Given the description of an element on the screen output the (x, y) to click on. 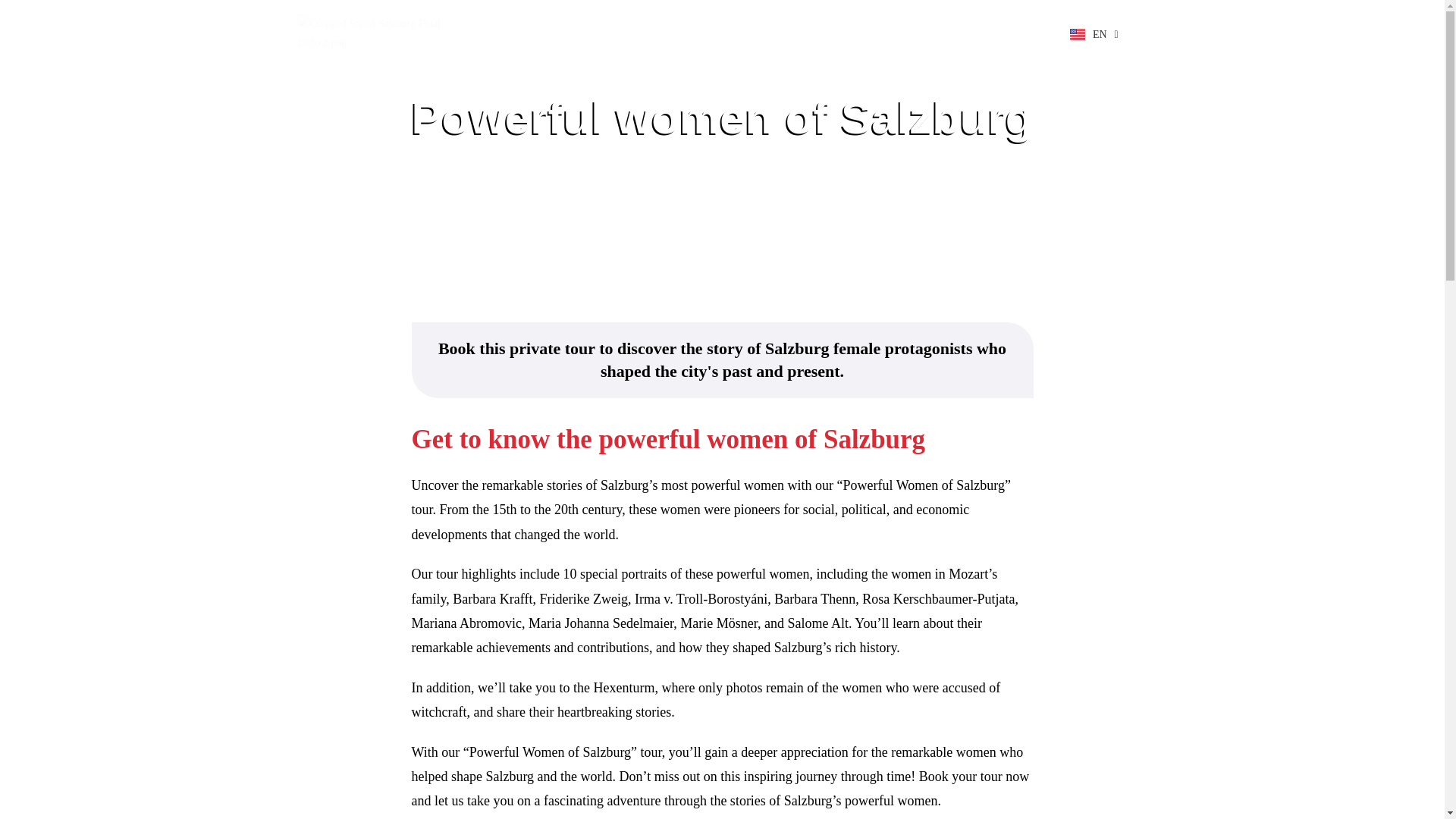
Secret Salzburg (553, 33)
Contact us (927, 33)
Tours In Salzburg (749, 33)
Our Blog (848, 33)
EN (1094, 34)
About us (648, 33)
